Given the description of an element on the screen output the (x, y) to click on. 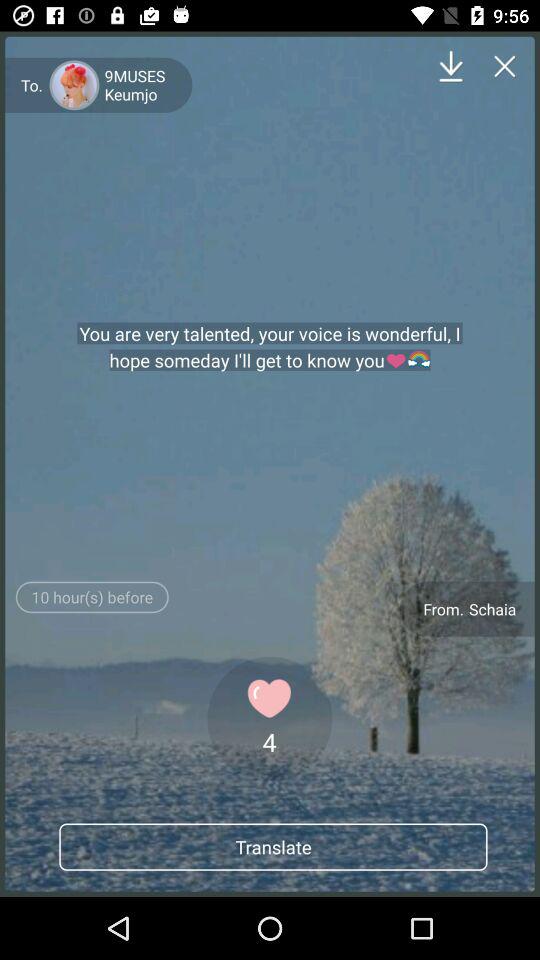
flip to you are very item (269, 347)
